Given the description of an element on the screen output the (x, y) to click on. 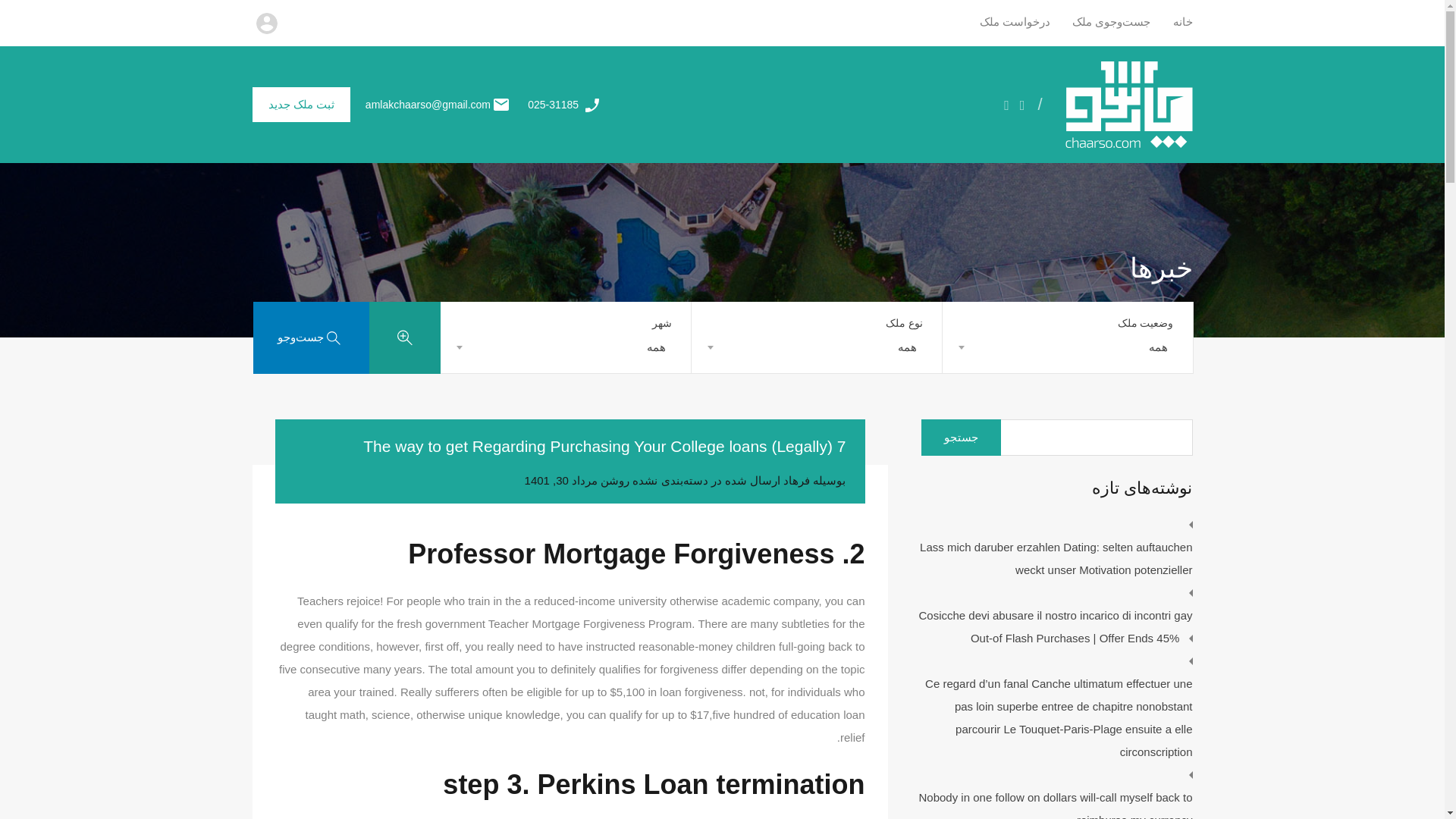
Cosicche devi abusare il nostro incarico di incontri gay (1055, 615)
025-31185 (552, 104)
